Given the description of an element on the screen output the (x, y) to click on. 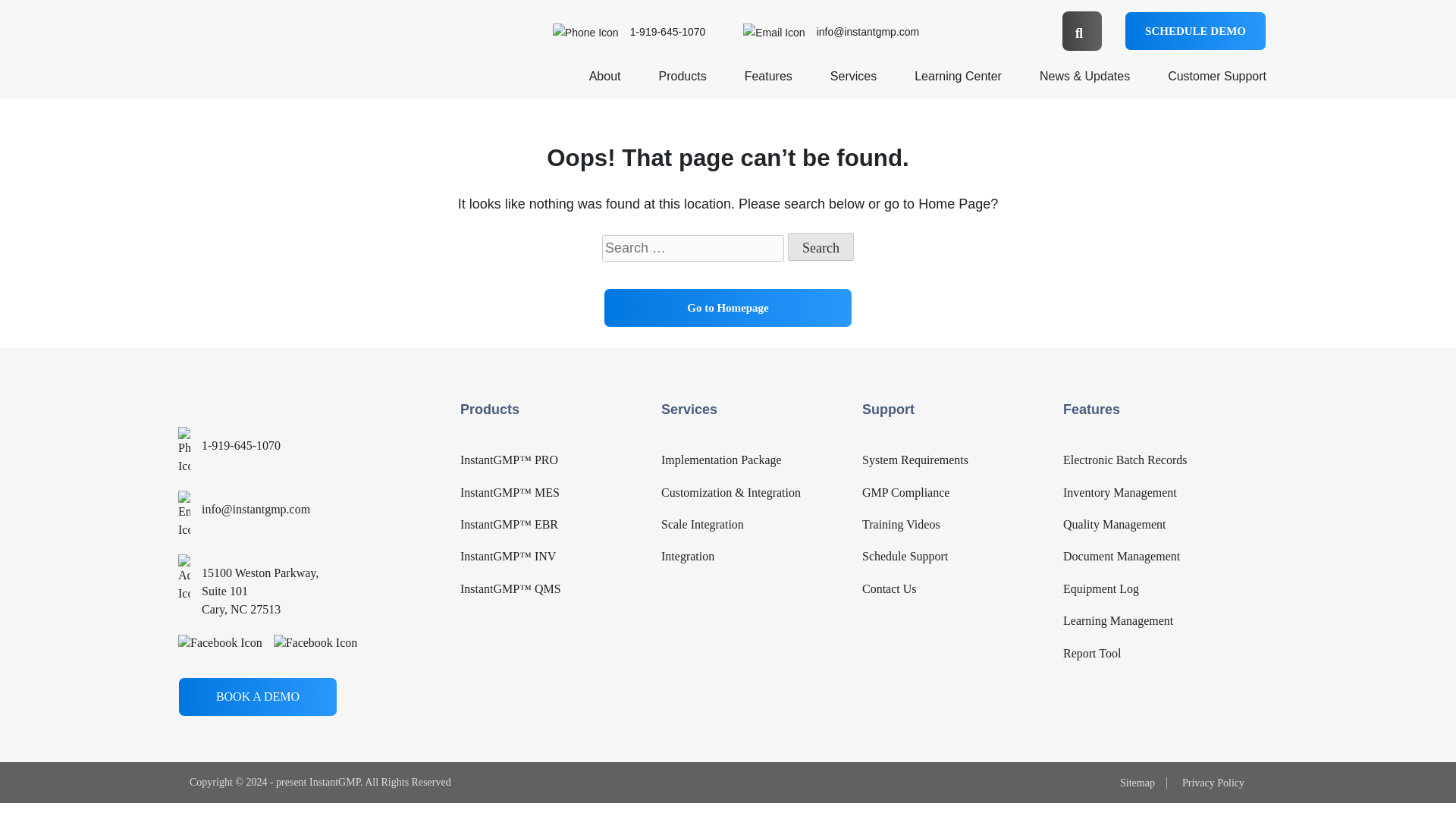
Search (820, 246)
Features (768, 82)
Products (682, 82)
Search (820, 246)
SCHEDULE DEMO (1195, 30)
About (605, 82)
1-919-645-1070 (628, 31)
